Given the description of an element on the screen output the (x, y) to click on. 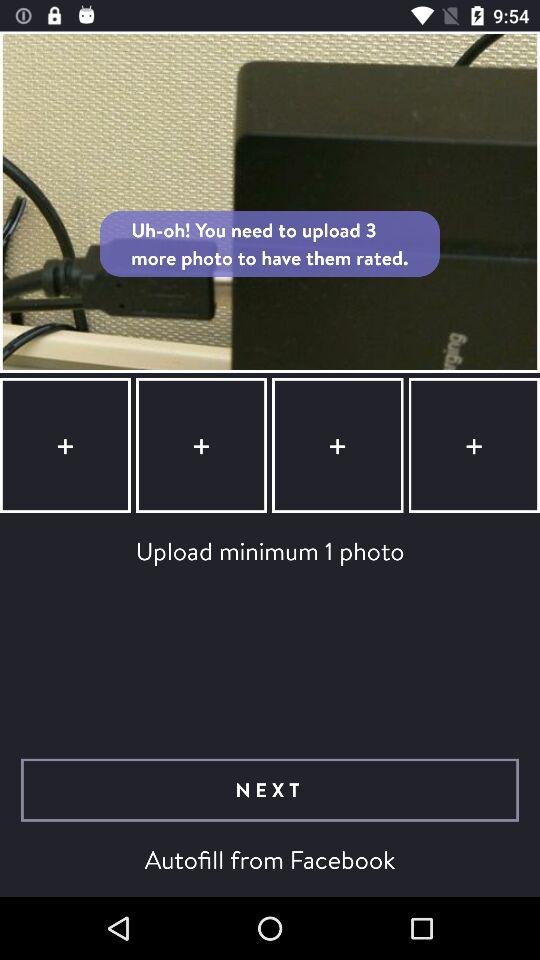
turn off autofill from facebook item (270, 859)
